Given the description of an element on the screen output the (x, y) to click on. 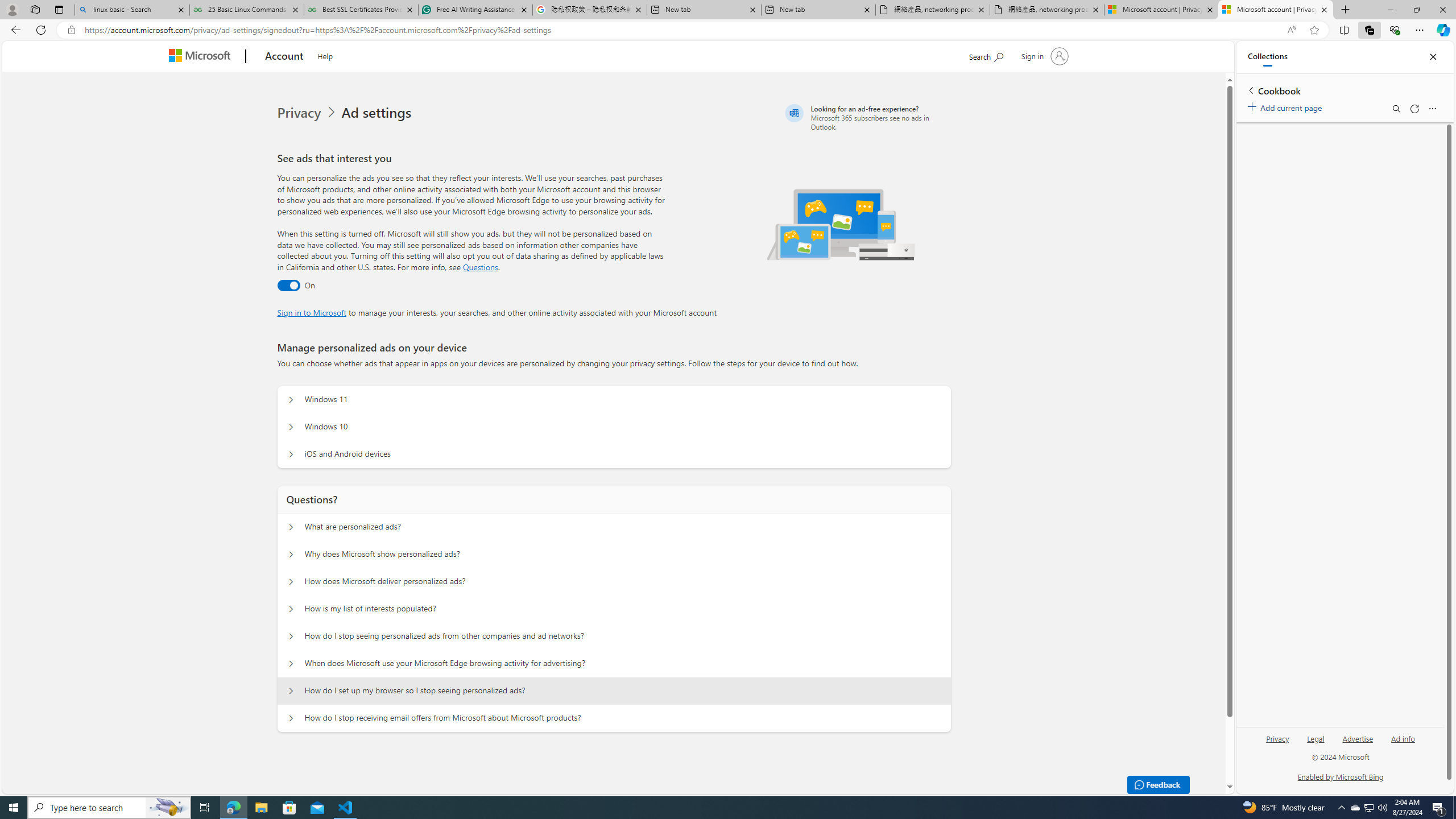
Illustration of multiple devices (840, 224)
Back to list of collections (1250, 90)
Help (325, 54)
Questions? What are personalized ads? (290, 526)
